Given the description of an element on the screen output the (x, y) to click on. 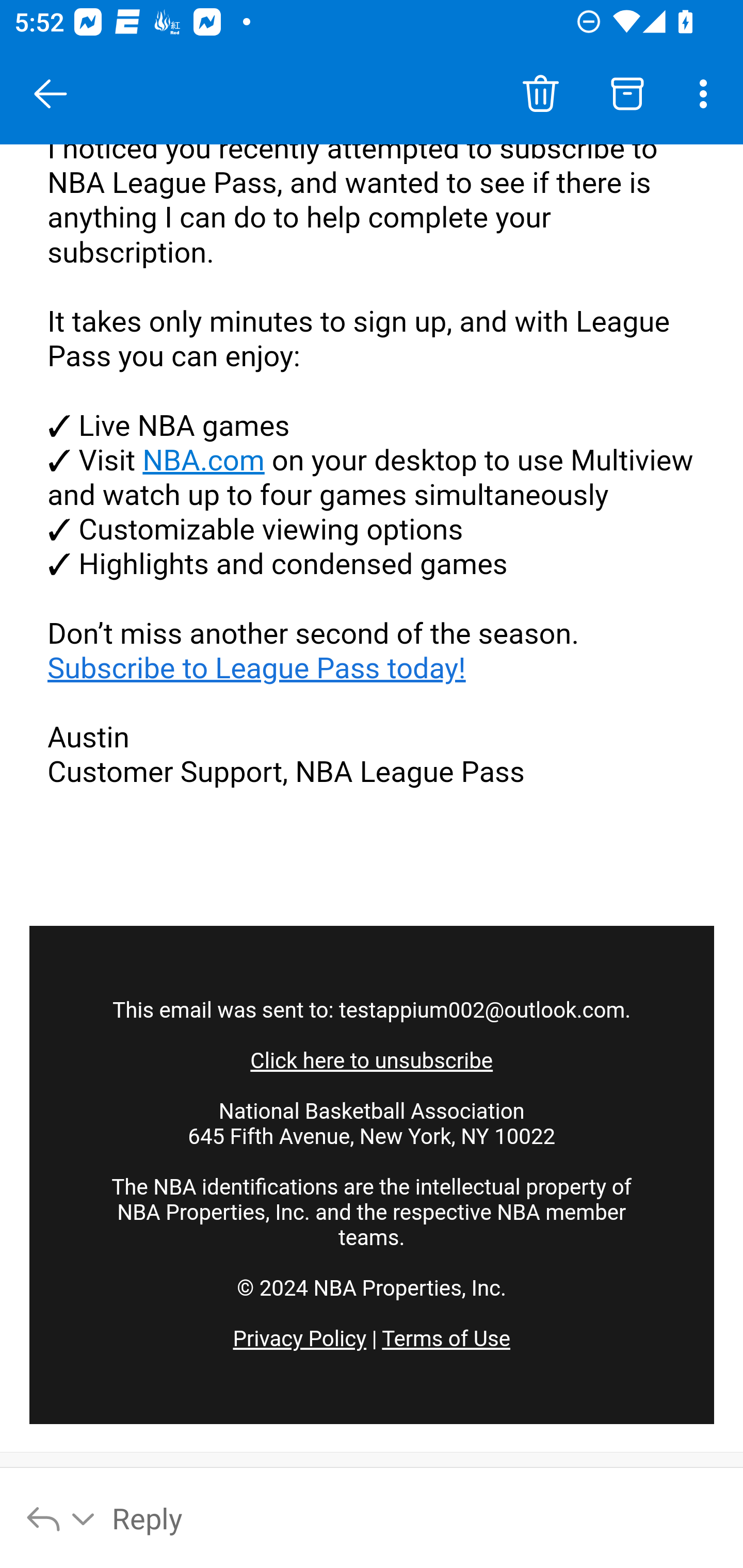
Close (50, 93)
Delete (540, 93)
Archive (626, 93)
More options (706, 93)
NBA‍.com (203, 461)
Subscribe to League Pass today! (256, 668)
testappium002@outlook.com (482, 1011)
Click here to unsubscribe (371, 1061)
645 Fifth Avenue, New York, NY 10022 (371, 1137)
Privacy Policy (299, 1339)
Terms of Use (446, 1339)
Reply options (61, 1517)
